Given the description of an element on the screen output the (x, y) to click on. 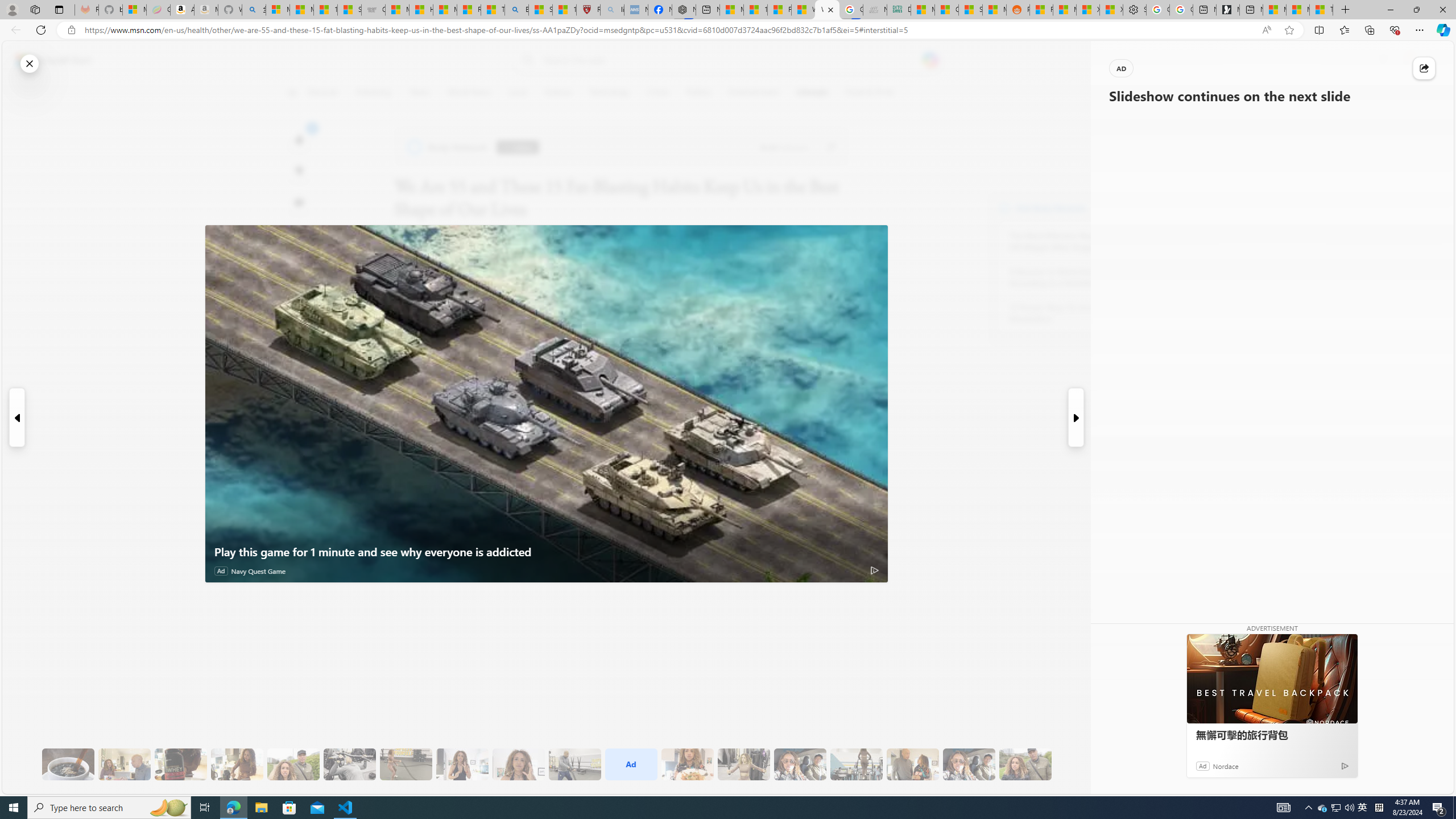
5 She Eats Less Than Her Husband (124, 764)
16 The Couple's Program Helps with Accountability (800, 764)
13 Her Husband Does Group Cardio Classs (574, 764)
16 The Couple's Program Helps with Accountability (800, 764)
Play this game for 1 minute and see why everyone is addicted (546, 403)
